Given the description of an element on the screen output the (x, y) to click on. 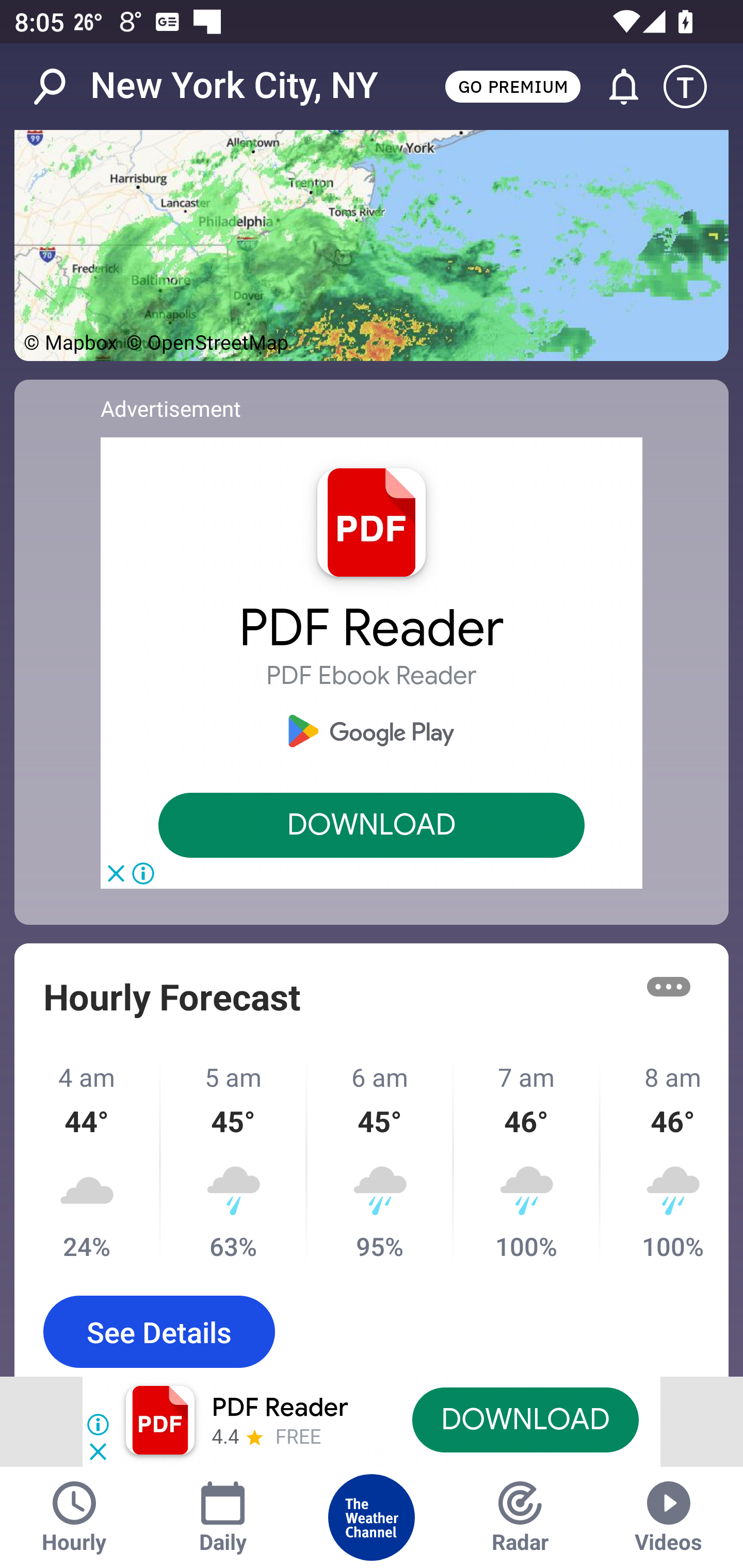
Search (59, 86)
Go to Alerts and Notifications (614, 86)
Setting icon T (694, 86)
New York City, NY (234, 85)
GO PREMIUM (512, 85)
See Map Details (371, 245)
DOWNLOAD (371, 825)
More options (668, 986)
4 am 44° 24% (87, 1161)
5 am 45° 63% (234, 1161)
6 am 45° 95% (380, 1161)
7 am 46° 100% (526, 1161)
8 am 46° 100% (664, 1161)
See Details (158, 1331)
DOWNLOAD (524, 1419)
PDF Reader (279, 1407)
Hourly Tab Hourly (74, 1517)
Daily Tab Daily (222, 1517)
Radar Tab Radar (519, 1517)
Videos Tab Videos (668, 1517)
